Given the description of an element on the screen output the (x, y) to click on. 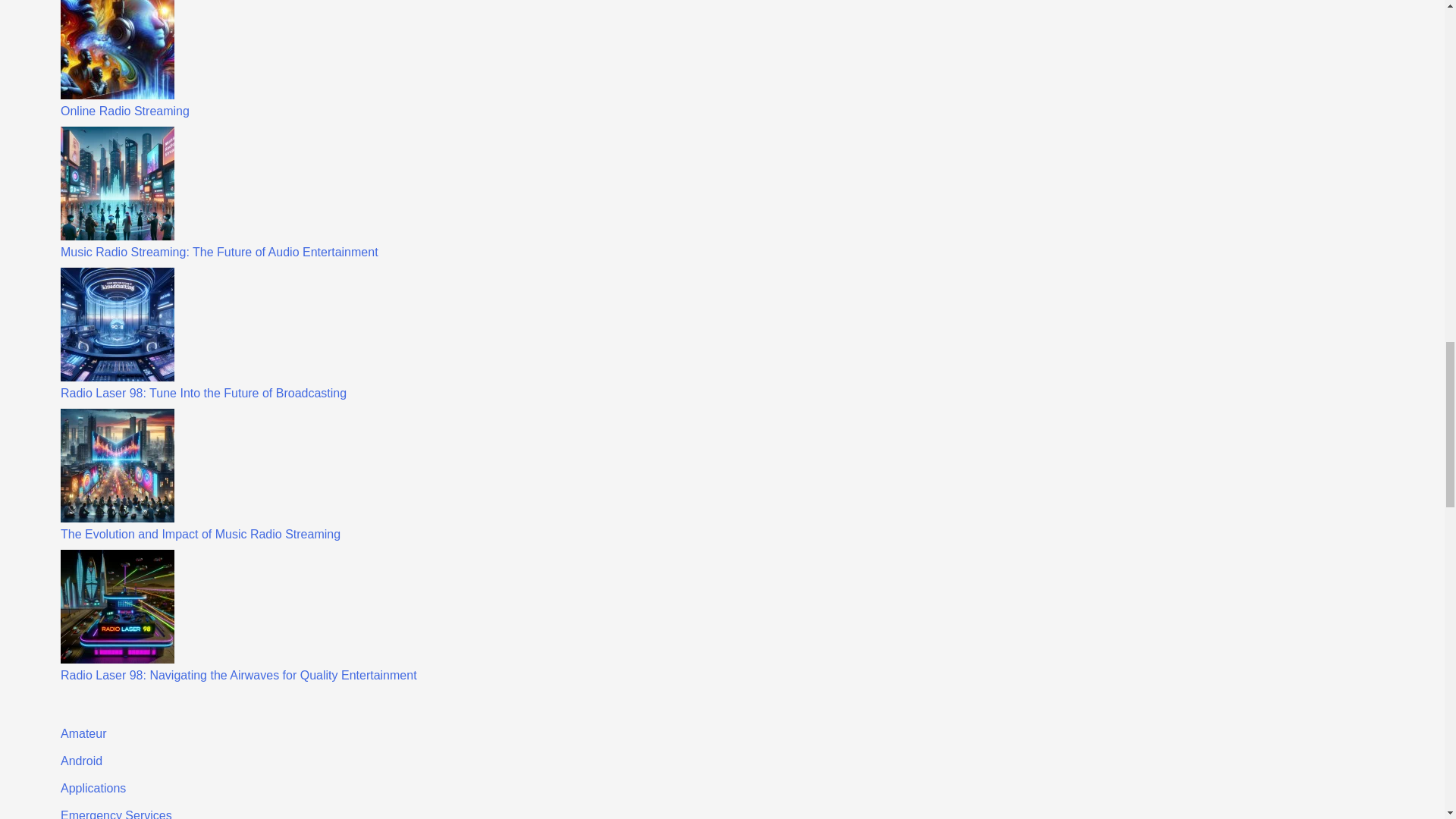
The Evolution and Impact of Music Radio Streaming (200, 533)
Emergency Services (116, 814)
Applications (93, 788)
Radio Laser 98: Tune Into the Future of Broadcasting (203, 392)
Amateur (83, 733)
Online Radio Streaming (125, 110)
Android (81, 760)
Music Radio Streaming: The Future of Audio Entertainment (219, 251)
